Given the description of an element on the screen output the (x, y) to click on. 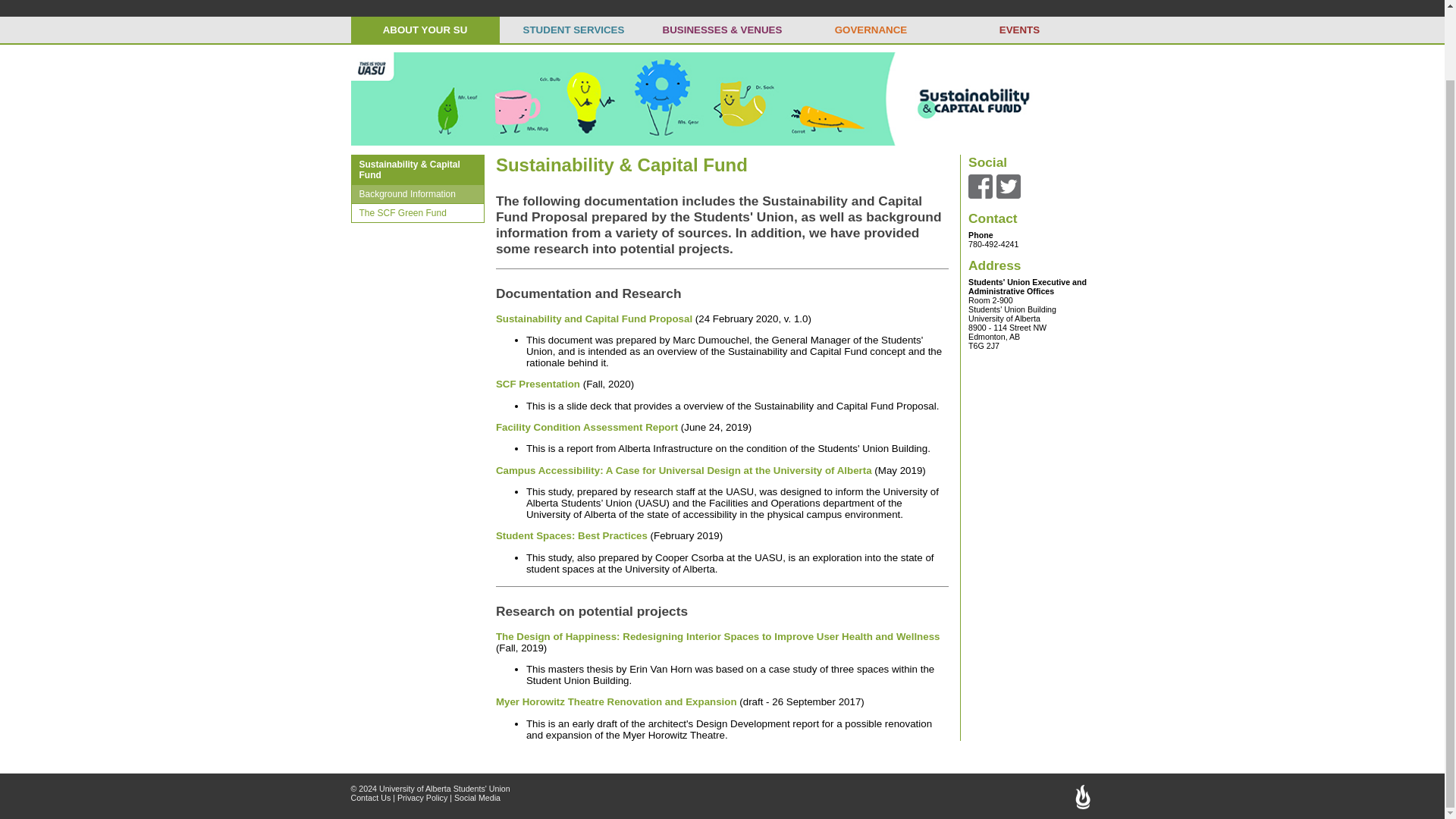
STUDENT SERVICES (573, 29)
ABOUT YOUR SU (424, 29)
Twitter (1007, 185)
Facebook (980, 185)
